Given the description of an element on the screen output the (x, y) to click on. 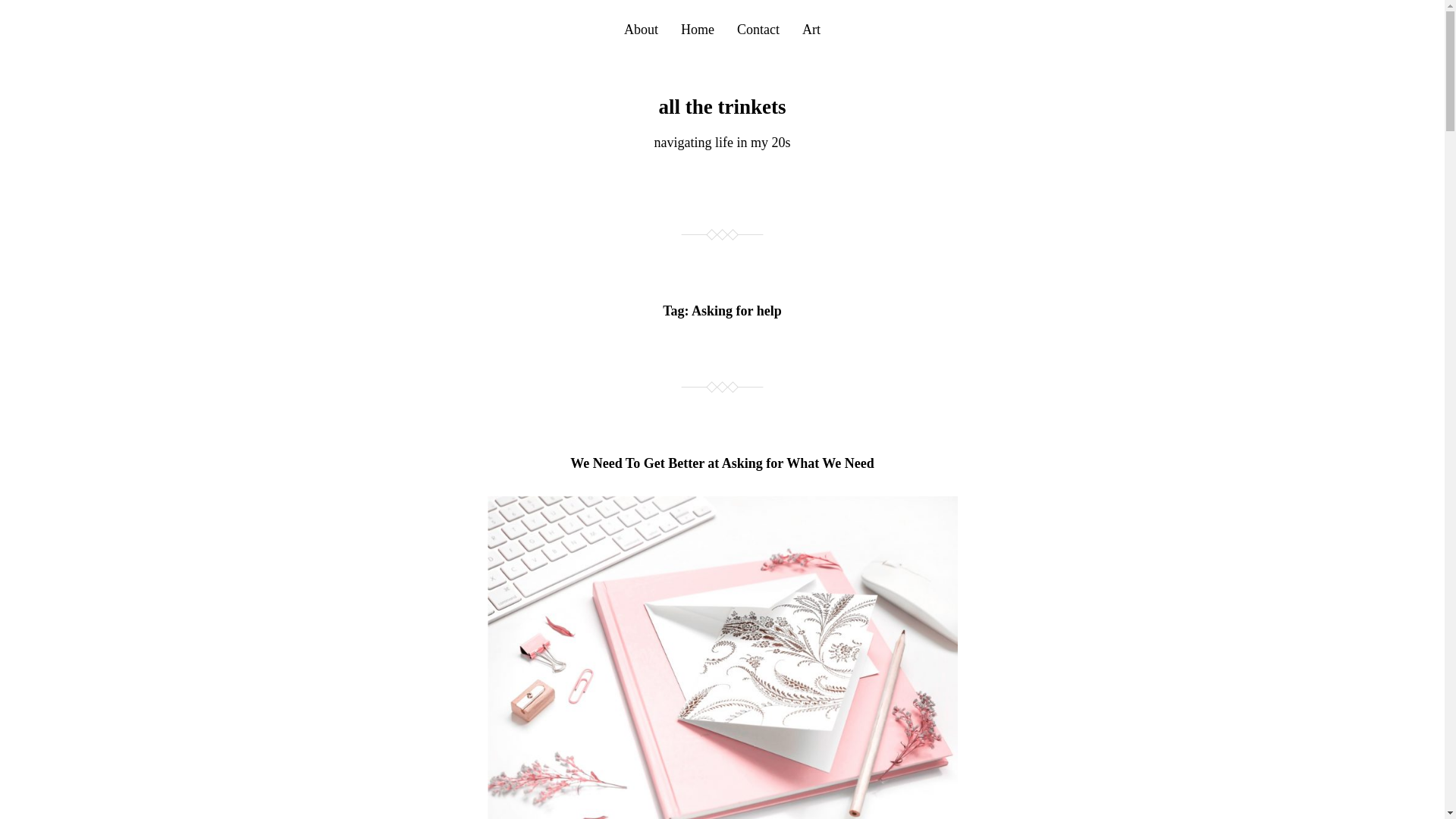
About (641, 29)
We Need To Get Better at Asking for What We Need (722, 462)
Home (697, 29)
Art (811, 29)
all the trinkets (722, 106)
Contact (757, 29)
